Given the description of an element on the screen output the (x, y) to click on. 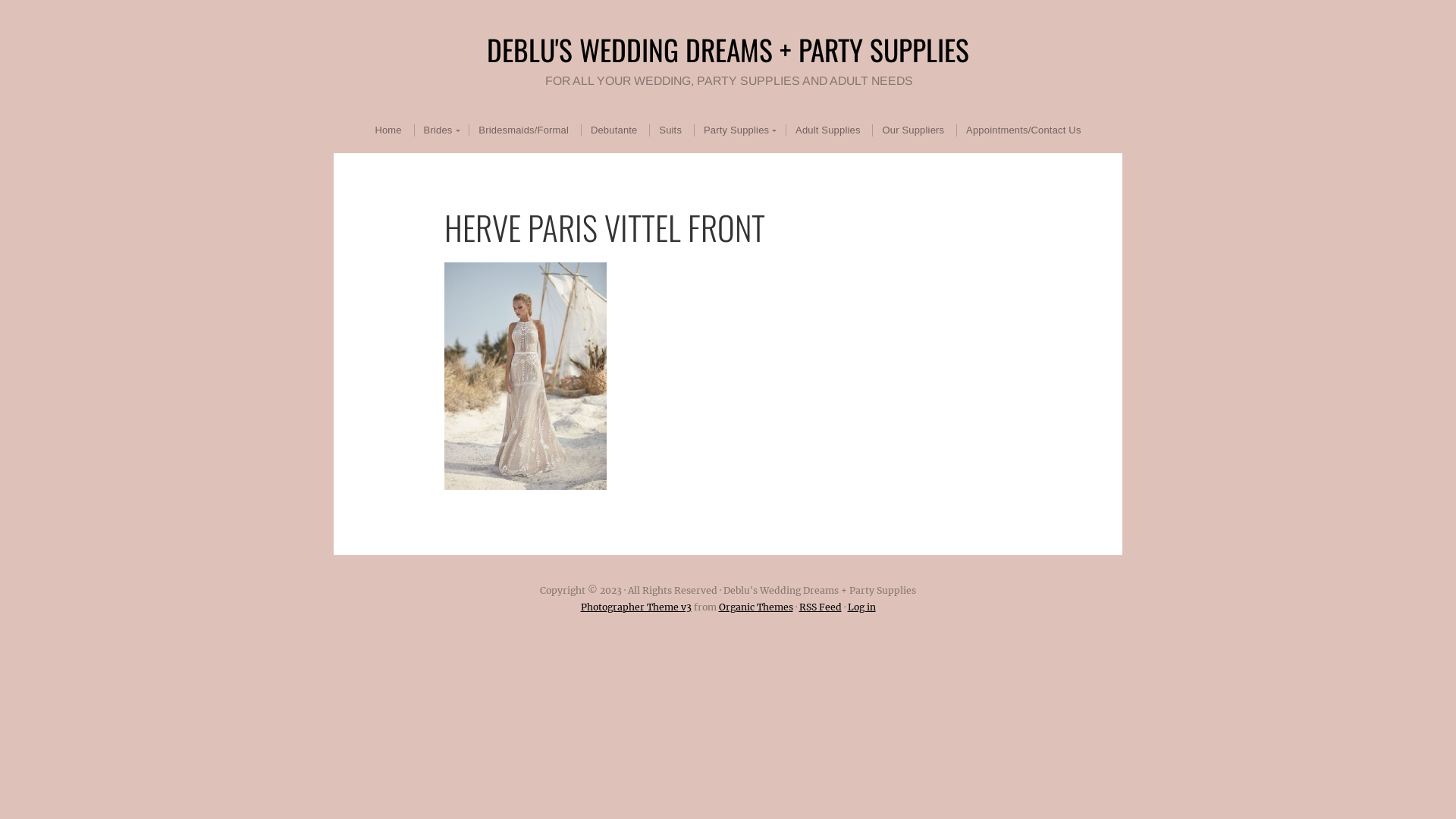
Appointments/Contact Us Element type: text (1022, 130)
Bridesmaids/Formal Element type: text (522, 130)
Suits Element type: text (669, 130)
Party Supplies Element type: text (737, 130)
RSS Feed Element type: text (820, 606)
DEBLU'S WEDDING DREAMS + PARTY SUPPLIES Element type: text (727, 49)
Home Element type: text (387, 130)
Brides Element type: text (440, 130)
Organic Themes Element type: text (755, 606)
Debutante Element type: text (613, 130)
Our Suppliers Element type: text (912, 130)
Photographer Theme v3 Element type: text (635, 606)
Adult Supplies Element type: text (827, 130)
Log in Element type: text (861, 606)
